Given the description of an element on the screen output the (x, y) to click on. 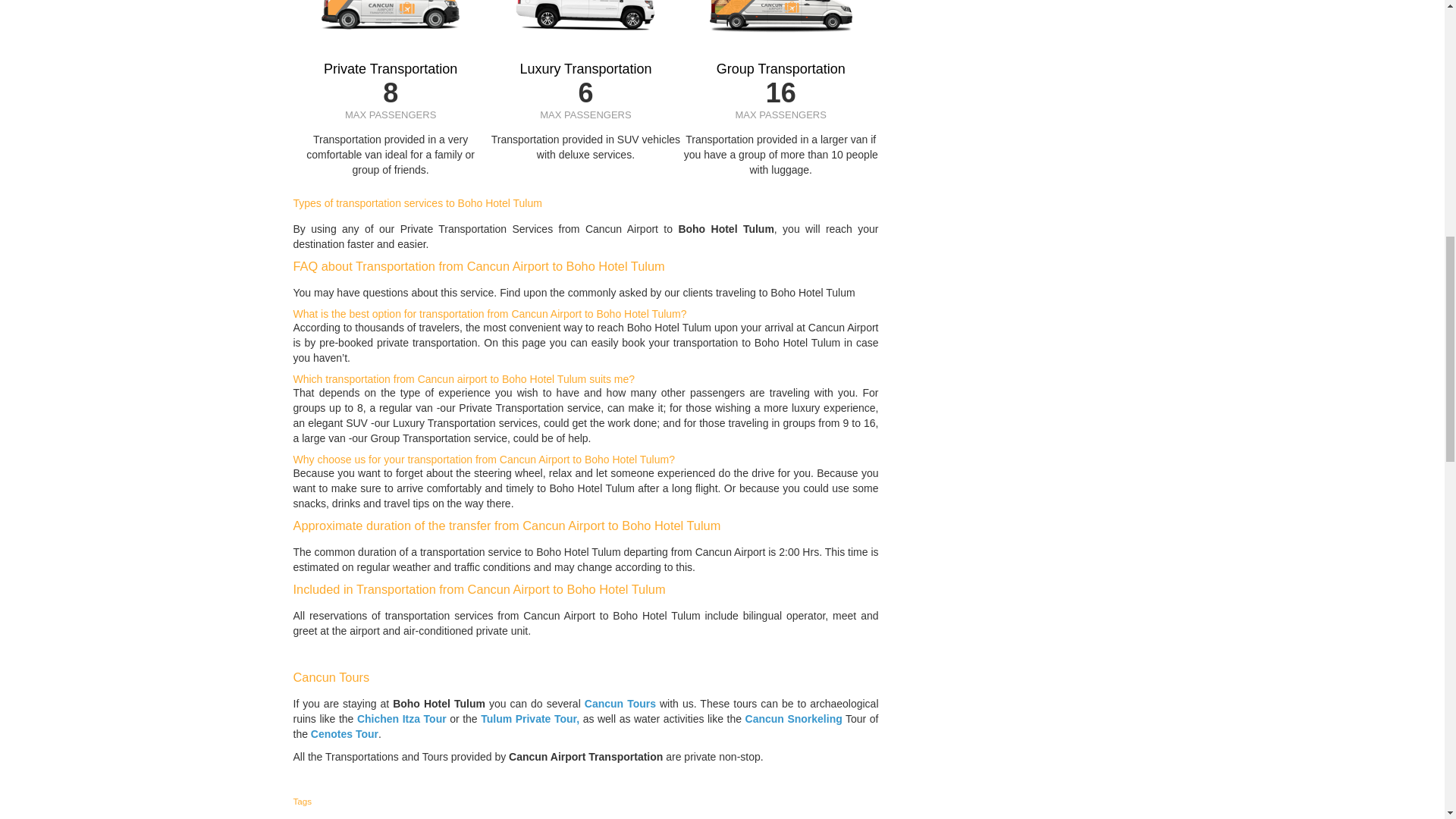
Types of transportation services to Boho Hotel Tulum (416, 203)
Group Transportation (780, 68)
Luxury Transportation (584, 68)
Private Transportation (390, 68)
